Given the description of an element on the screen output the (x, y) to click on. 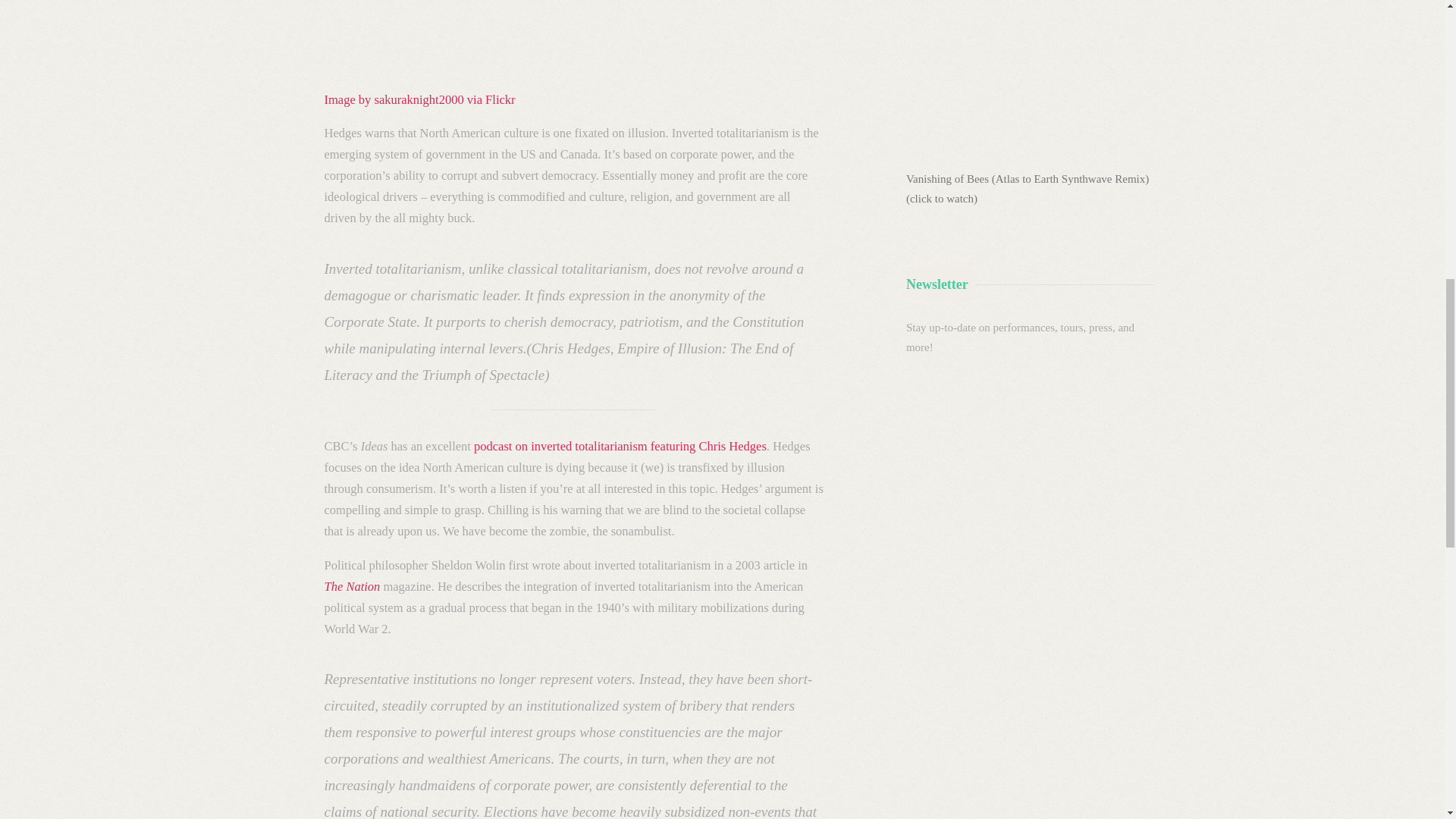
podcast on inverted totalitarianism featuring Chris Hedges (620, 445)
Image by sakuraknight2000 via Flickr (419, 99)
The Nation (352, 586)
